Given the description of an element on the screen output the (x, y) to click on. 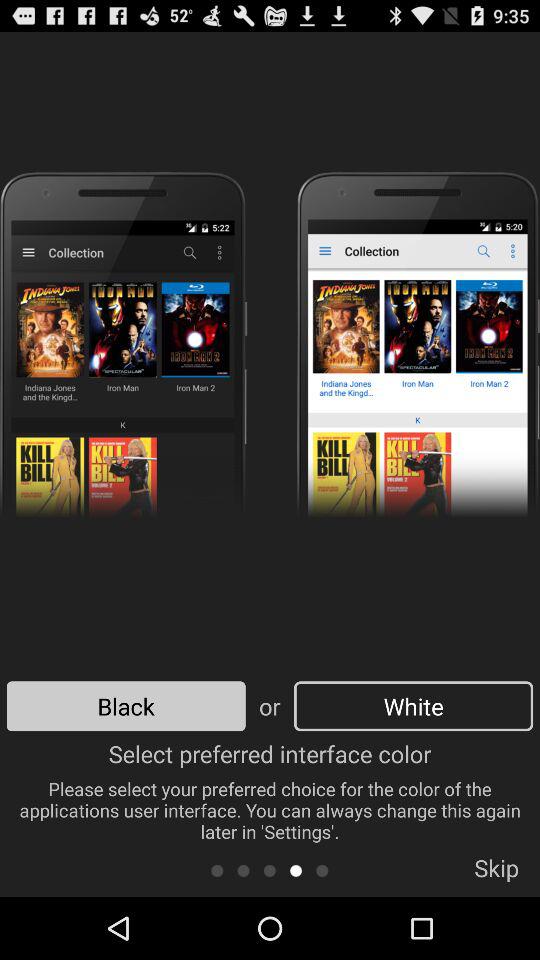
choose app below the select preferred interface icon (496, 873)
